Given the description of an element on the screen output the (x, y) to click on. 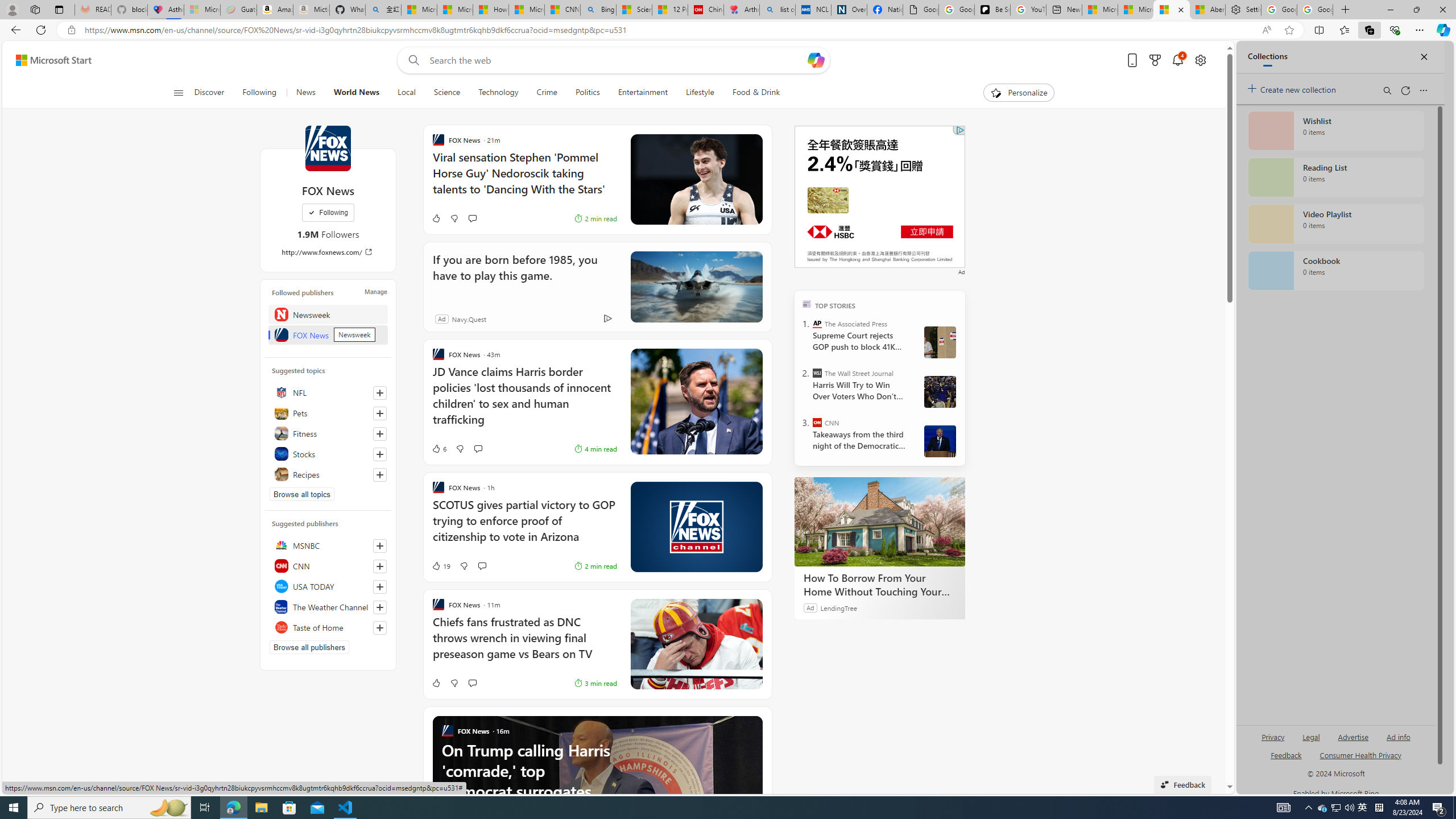
Google Analytics Opt-out Browser Add-on Download Page (920, 9)
